Given the description of an element on the screen output the (x, y) to click on. 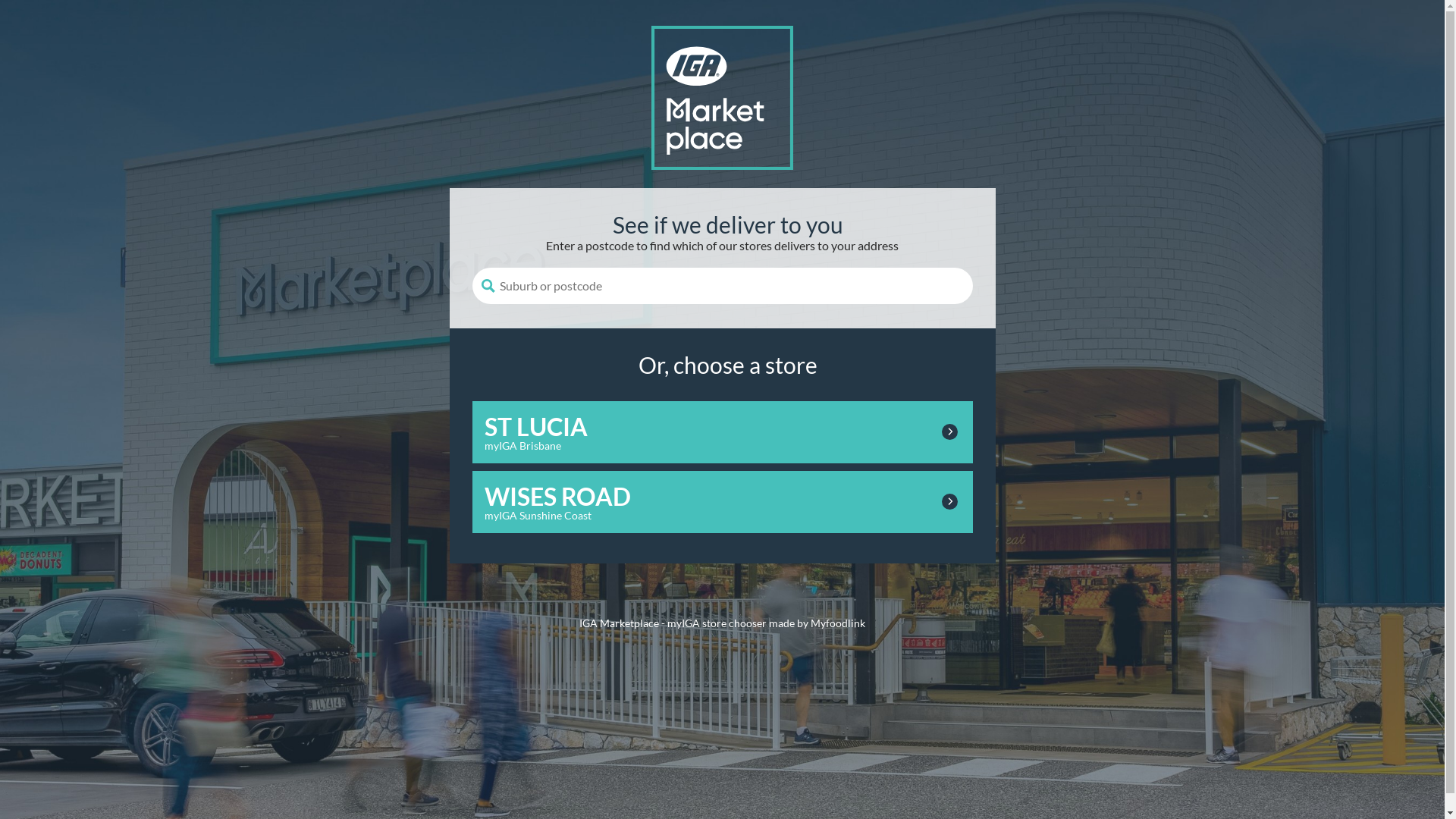
ST LUCIA
myIGA Brisbane Element type: text (721, 432)
WISES ROAD
myIGA Sunshine Coast Element type: text (721, 501)
Myfoodlink Element type: text (837, 622)
